Given the description of an element on the screen output the (x, y) to click on. 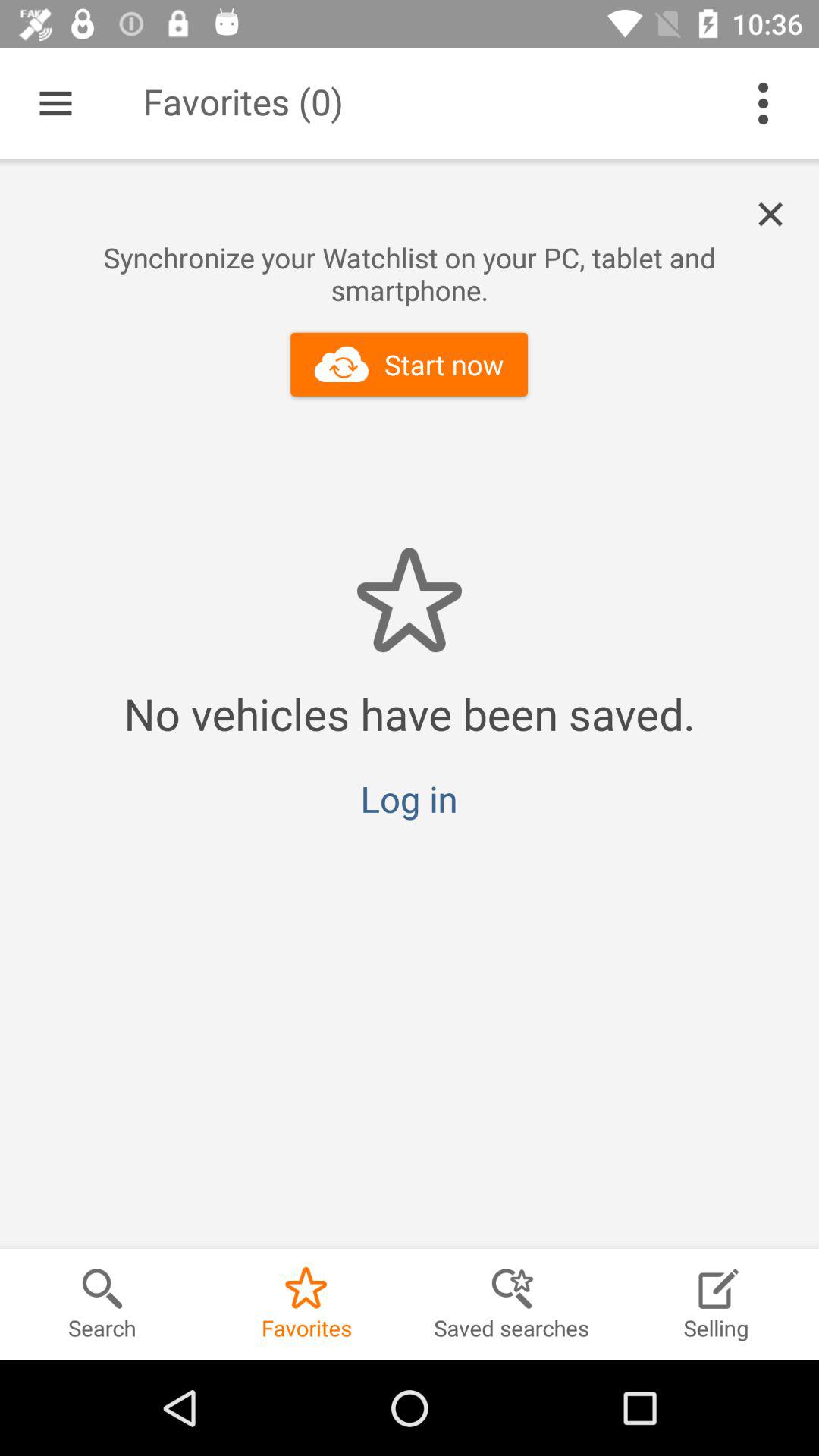
exit favorite screen (779, 214)
